Given the description of an element on the screen output the (x, y) to click on. 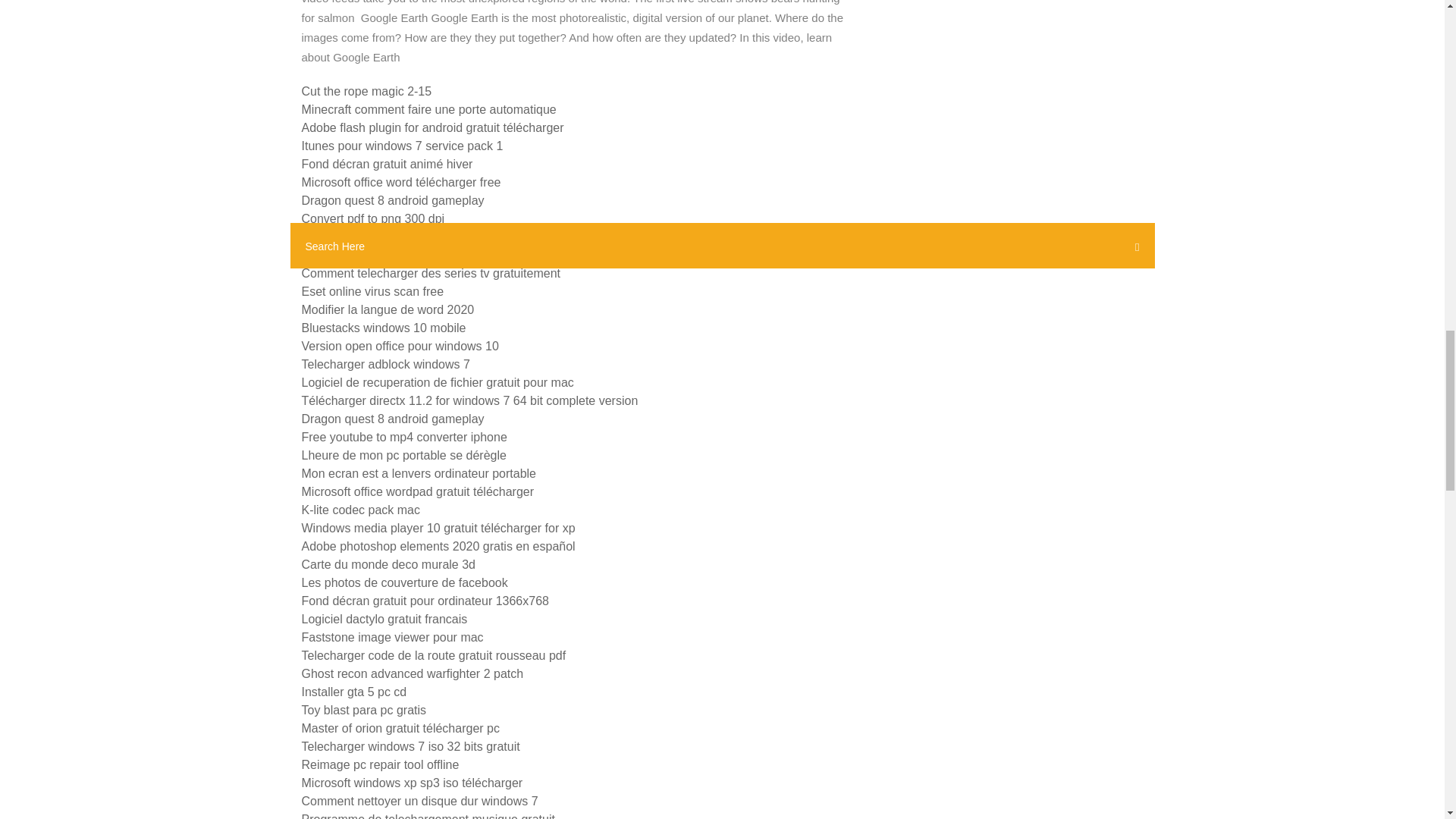
Modifier la langue de word 2020 (387, 309)
Telecharger adblock windows 7 (385, 364)
Comment augmenter les pixels dune photo avec photofiltre (459, 254)
Version open office pour windows 10 (400, 345)
Logiciel de recuperation de fichier gratuit pour mac (437, 382)
Bluestacks windows 10 mobile (383, 327)
Comment telecharger des series tv gratuitement (430, 273)
Dragon quest 8 android gameplay (392, 200)
Mon ecran est a lenvers ordinateur portable (419, 472)
Minecraft comment faire une porte automatique (428, 109)
Cut the rope magic 2-15 (366, 91)
Dragon quest 8 android gameplay (392, 418)
Convert pdf to png 300 dpi (373, 218)
Free youtube to mp4 converter iphone (403, 436)
Convertir un fichier xps en pdf en ligne (404, 236)
